Given the description of an element on the screen output the (x, y) to click on. 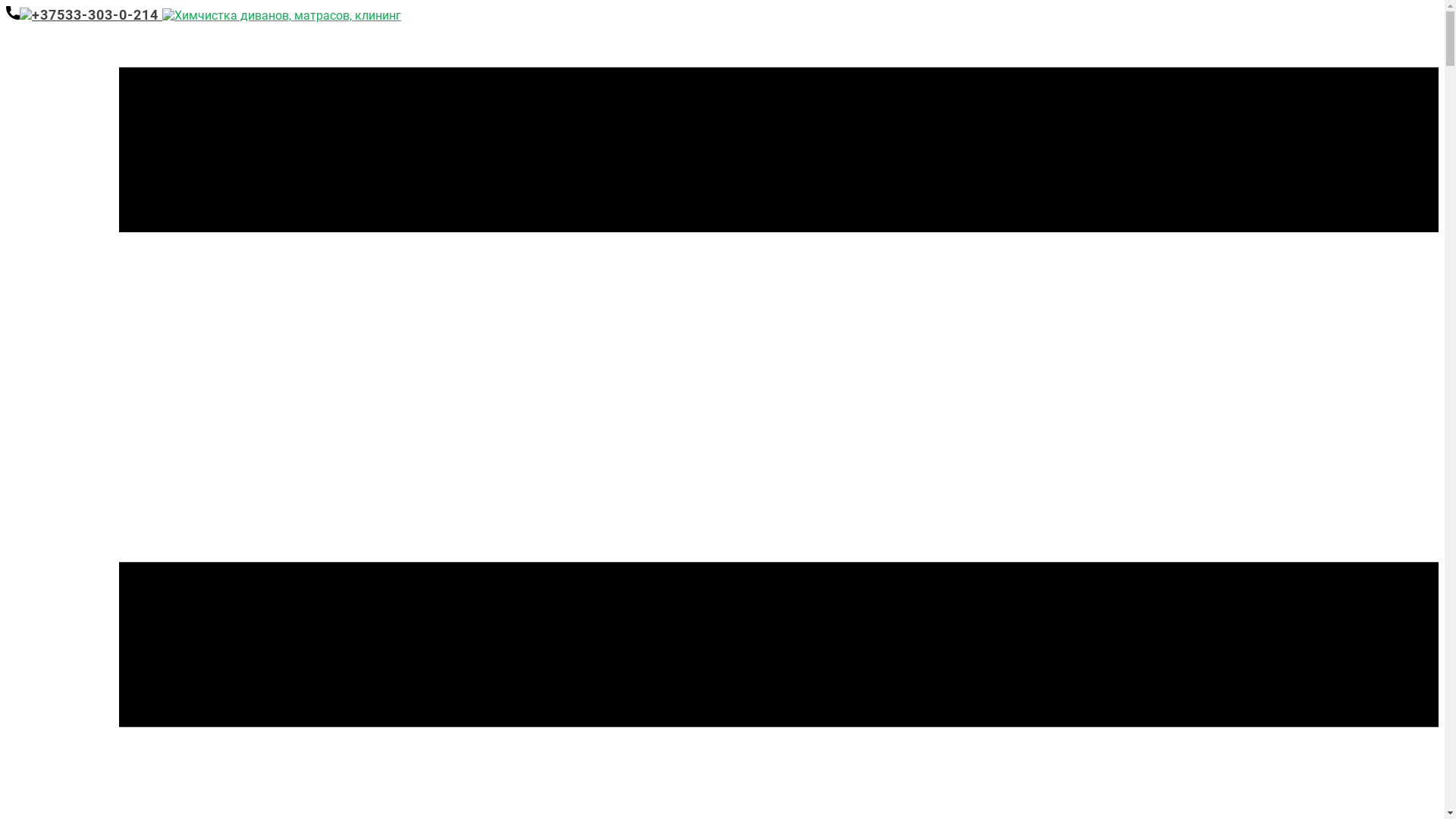
+37533-303-0-214 Element type: text (84, 14)
